Given the description of an element on the screen output the (x, y) to click on. 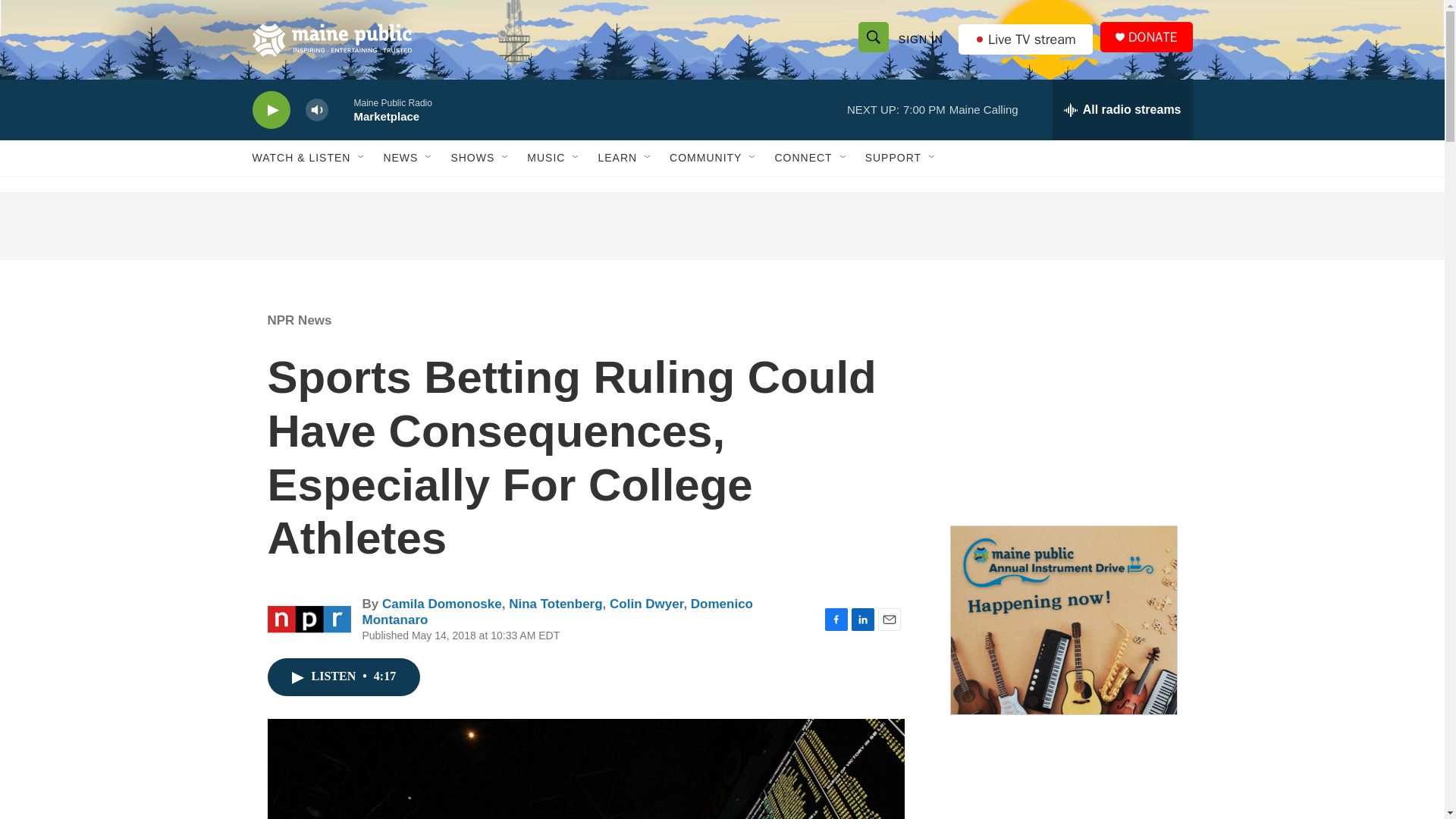
3rd party ad content (1062, 400)
3rd party ad content (721, 225)
3rd party ad content (1062, 782)
